Given the description of an element on the screen output the (x, y) to click on. 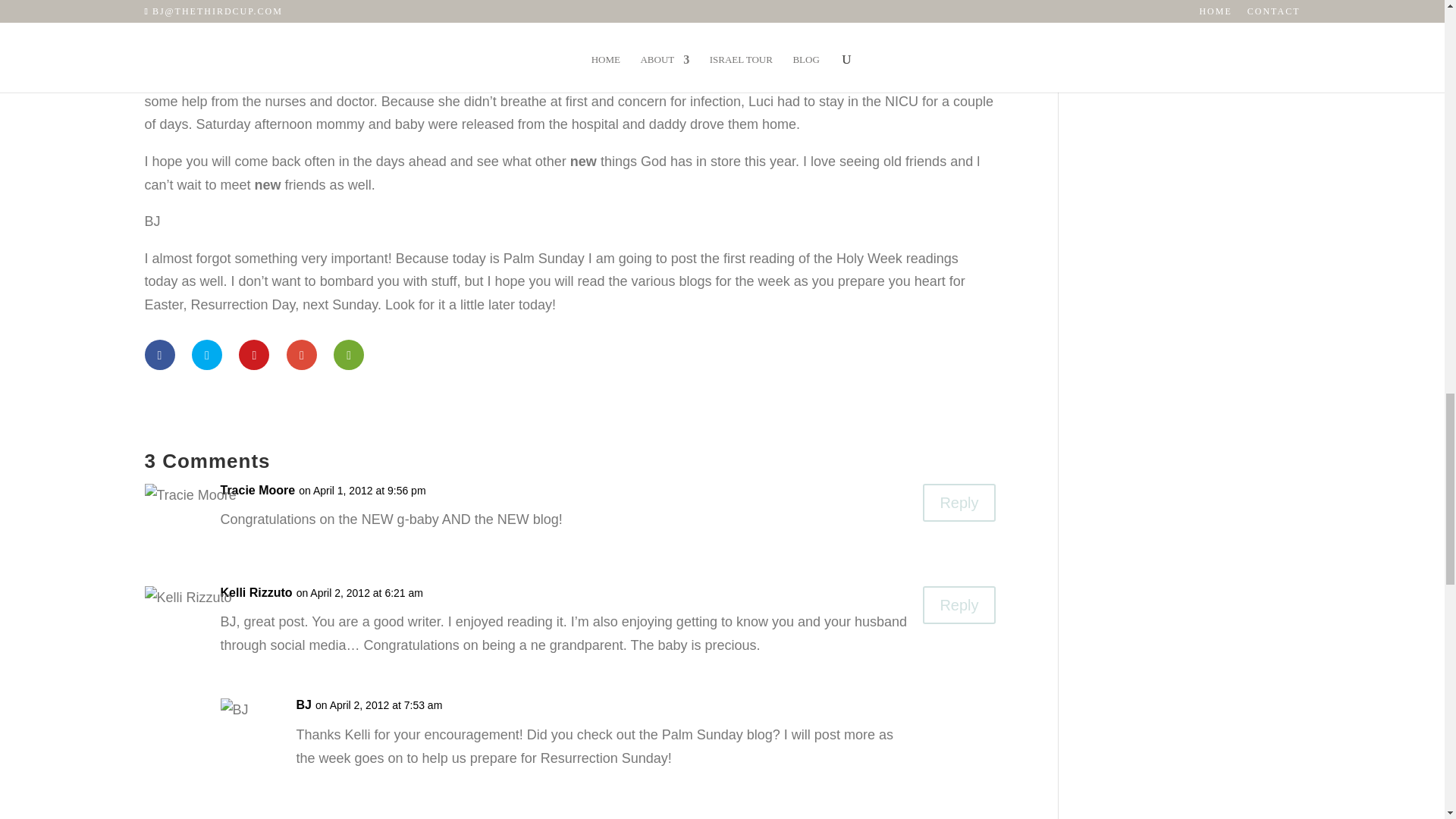
Reply (958, 605)
Tracie Moore (257, 490)
Reply (958, 502)
